Given the description of an element on the screen output the (x, y) to click on. 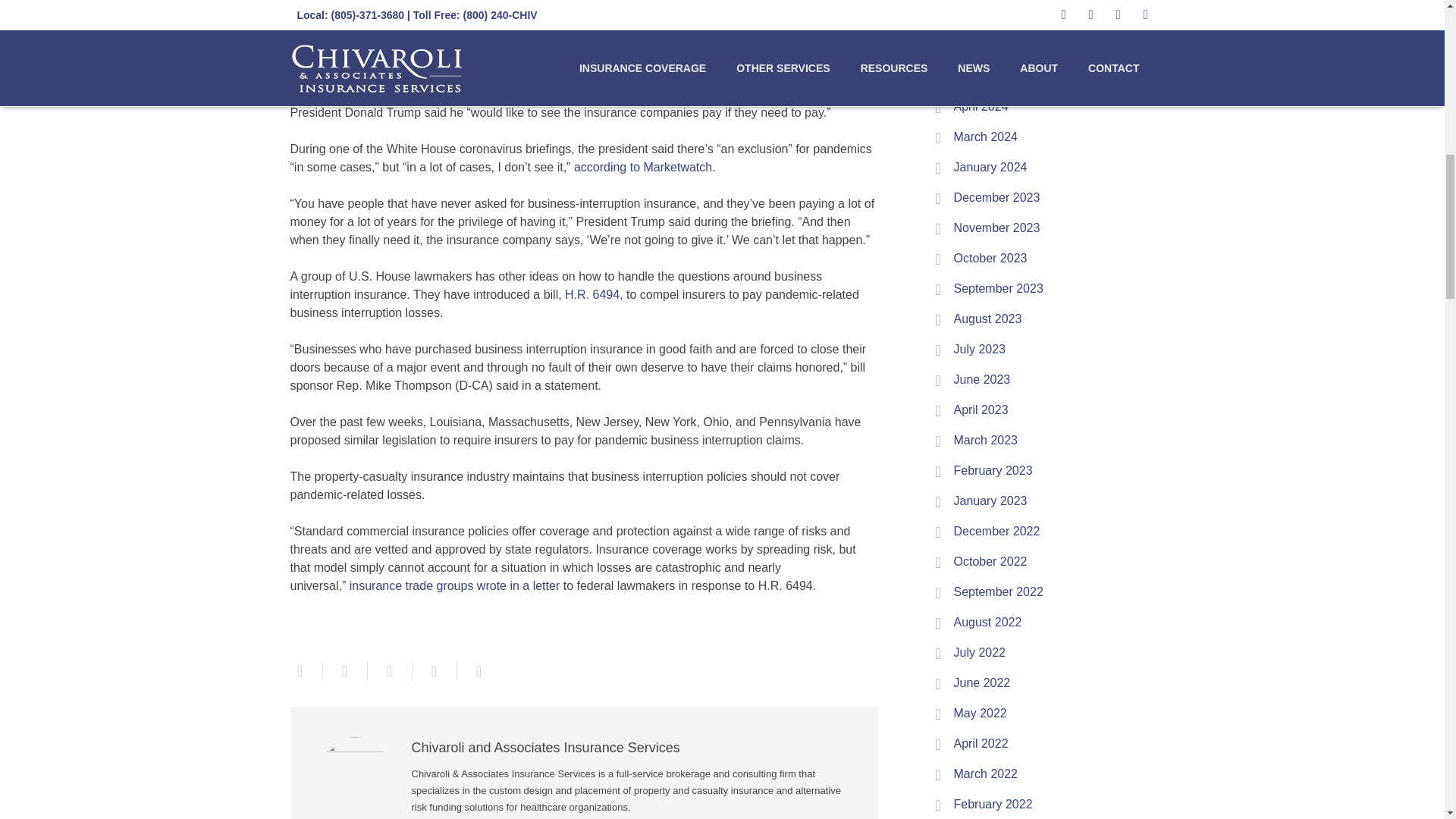
Share this (305, 670)
Pin this (472, 670)
Share this (434, 670)
Tweet this (345, 670)
Share this (389, 670)
Back to top (1411, 21)
